Given the description of an element on the screen output the (x, y) to click on. 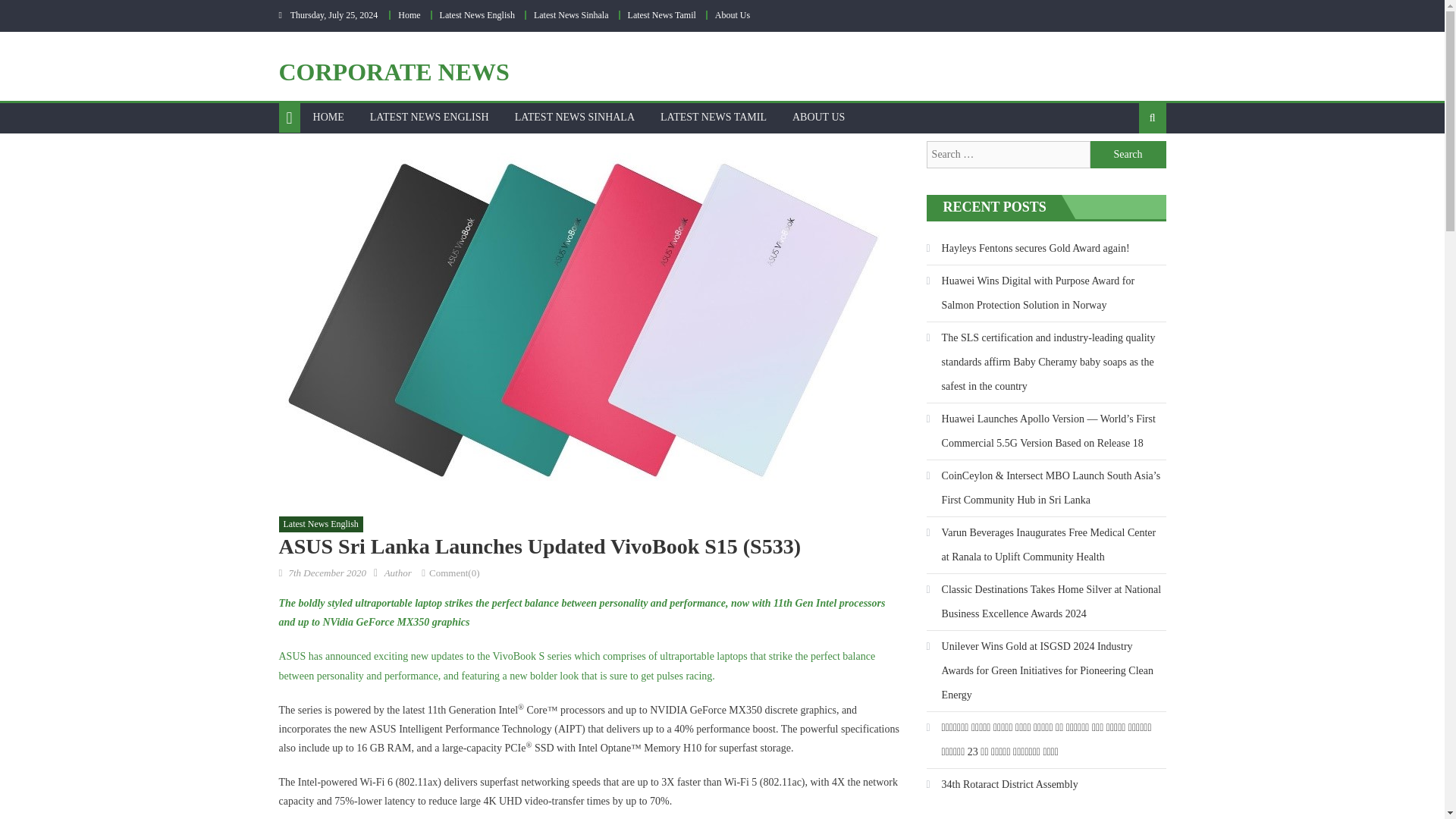
LATEST NEWS SINHALA (574, 117)
Latest News English (477, 14)
HOME (328, 117)
About Us (731, 14)
ABOUT US (818, 117)
Home (408, 14)
LATEST NEWS ENGLISH (429, 117)
7th December 2020 (327, 572)
Latest News Sinhala (571, 14)
Search (1128, 154)
Latest News Tamil (661, 14)
CORPORATE NEWS (394, 71)
Latest News English (320, 524)
LATEST NEWS TAMIL (713, 117)
